Given the description of an element on the screen output the (x, y) to click on. 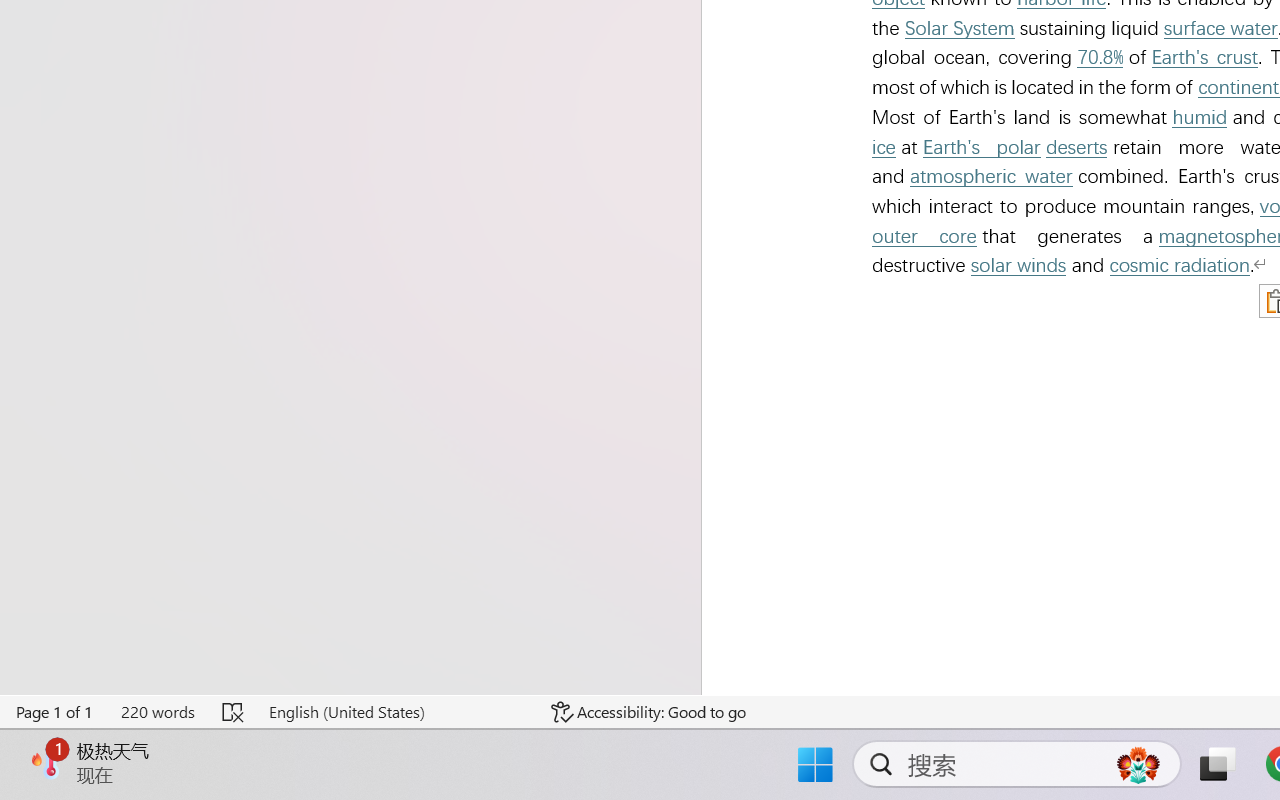
Earth's polar (981, 147)
deserts (1076, 147)
humid (1199, 117)
70.8% (1099, 57)
Solar System (959, 28)
Earth's crust (1205, 57)
cosmic radiation (1179, 265)
surface water (1220, 28)
atmospheric water (991, 176)
